Given the description of an element on the screen output the (x, y) to click on. 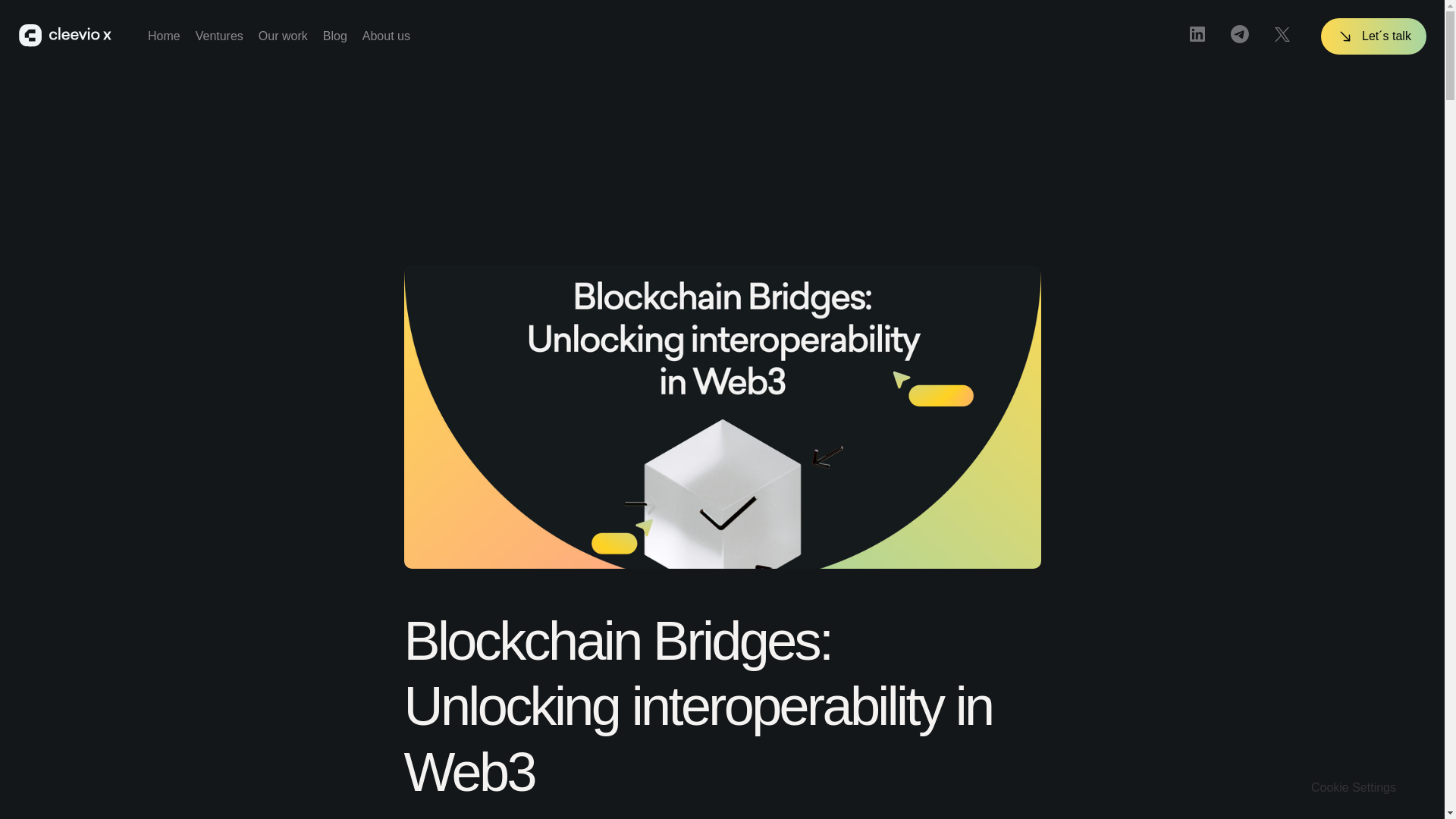
Home (163, 35)
Blog (335, 35)
Our work (282, 35)
Ventures (218, 35)
About us (386, 35)
Cookie Settings (1353, 787)
